Given the description of an element on the screen output the (x, y) to click on. 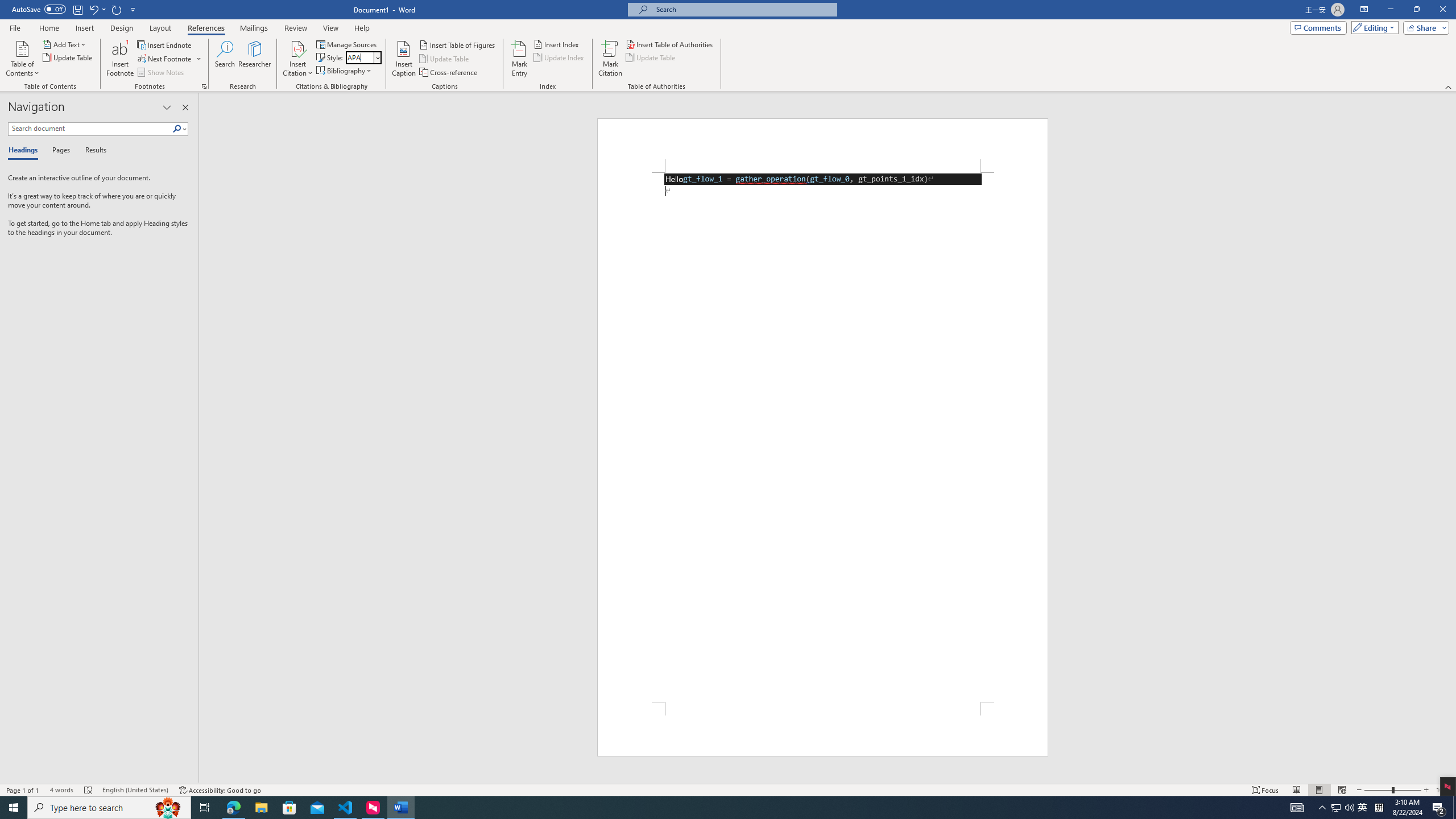
Headings (25, 150)
Add Text (65, 44)
Cross-reference... (448, 72)
Class: NetUIImage (177, 128)
Quick Access Toolbar (74, 9)
Zoom Out (1377, 790)
Table of Contents (22, 58)
Share (1423, 27)
Undo Underline Style (96, 9)
Search (179, 128)
Insert Index... (556, 44)
Style (360, 57)
Collapse the Ribbon (1448, 86)
Language English (United States) (135, 790)
Focus  (1265, 790)
